Given the description of an element on the screen output the (x, y) to click on. 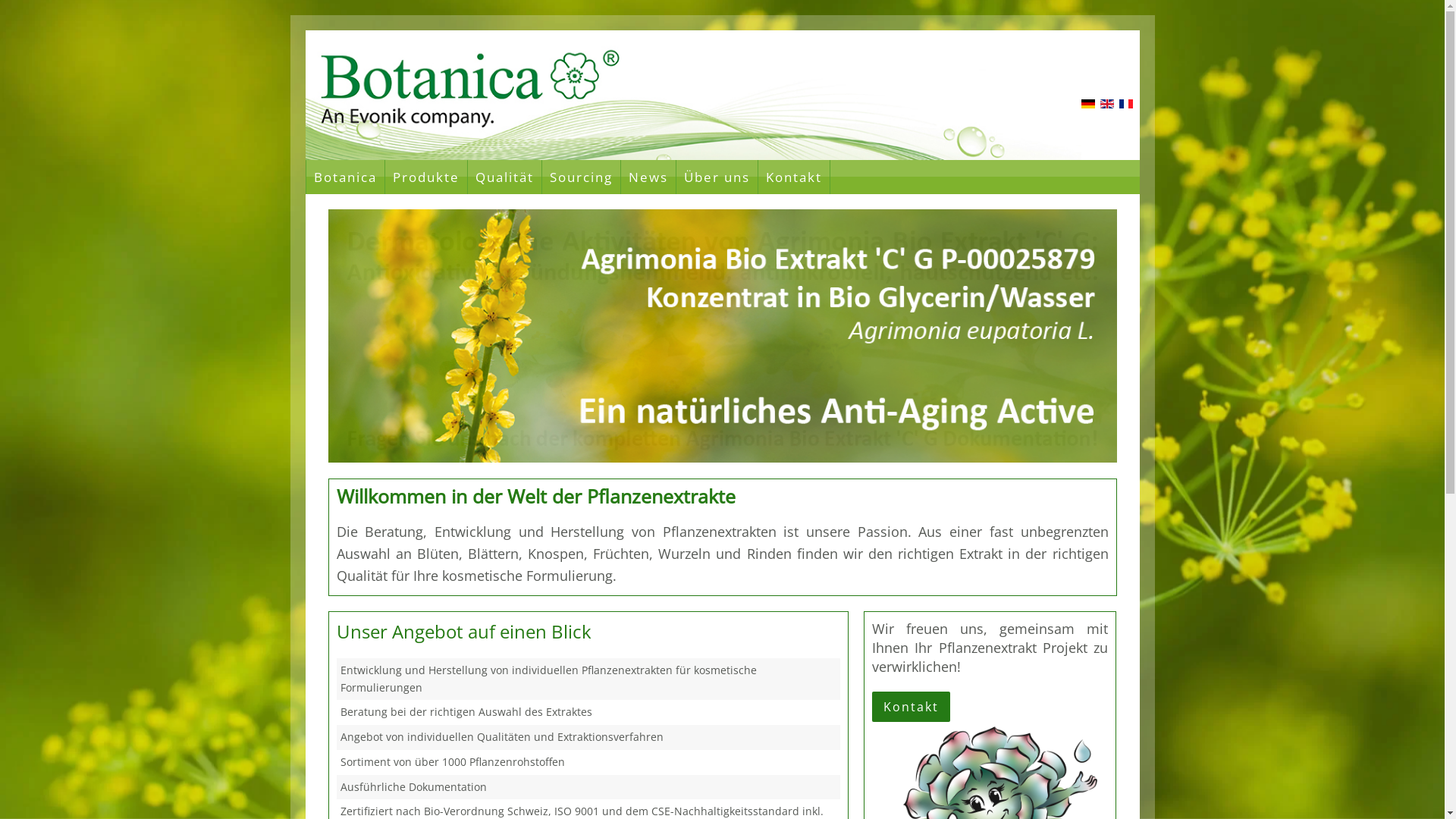
Deutsch Element type: hover (1088, 103)
Kontakt Element type: text (792, 177)
Kontakt Element type: text (911, 706)
English Element type: hover (1106, 103)
News Element type: text (647, 177)
Botanica Element type: hover (692, 102)
Botanica Element type: text (345, 177)
Produkte Element type: text (424, 177)
Sourcing Element type: text (580, 177)
